Given the description of an element on the screen output the (x, y) to click on. 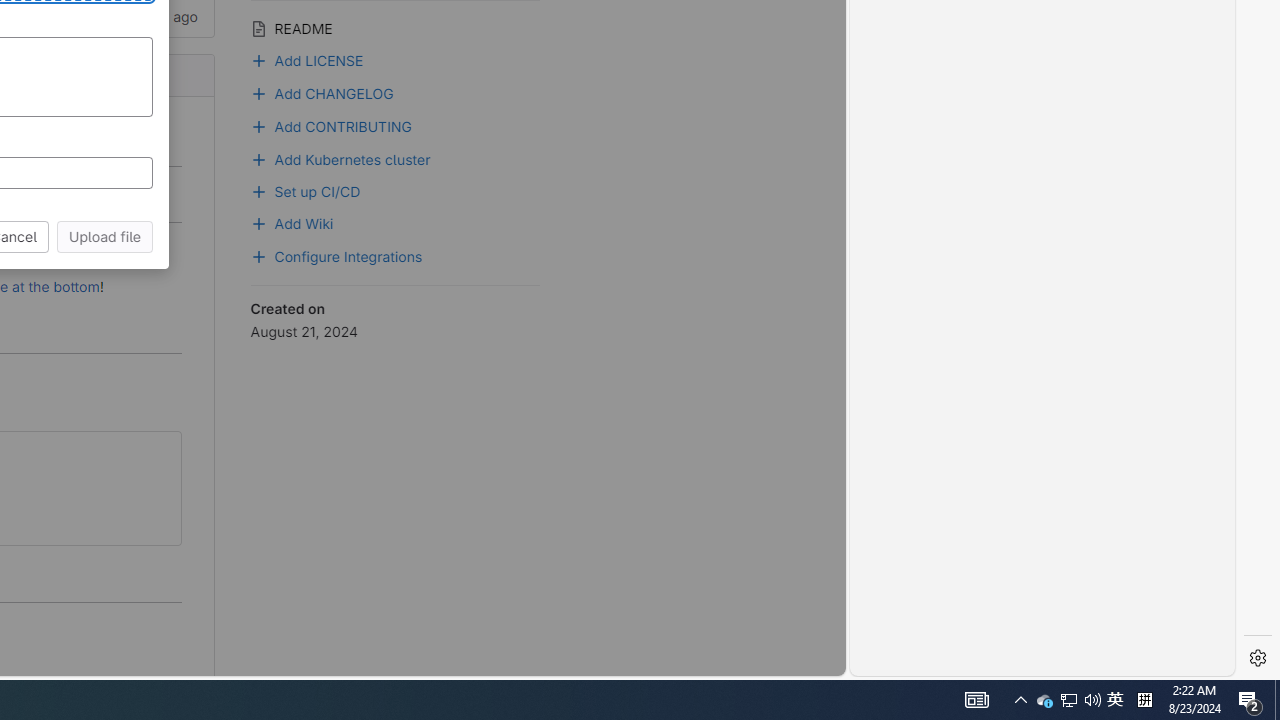
Configure Integrations (336, 255)
Class: s16 gl-mr-3 (258, 223)
Configure Integrations (395, 255)
README (395, 26)
Add CONTRIBUTING (331, 124)
Class: s16 gl-blue-500! gl-mr-3 (258, 256)
Add Wiki (395, 222)
Add Wiki (292, 222)
